Given the description of an element on the screen output the (x, y) to click on. 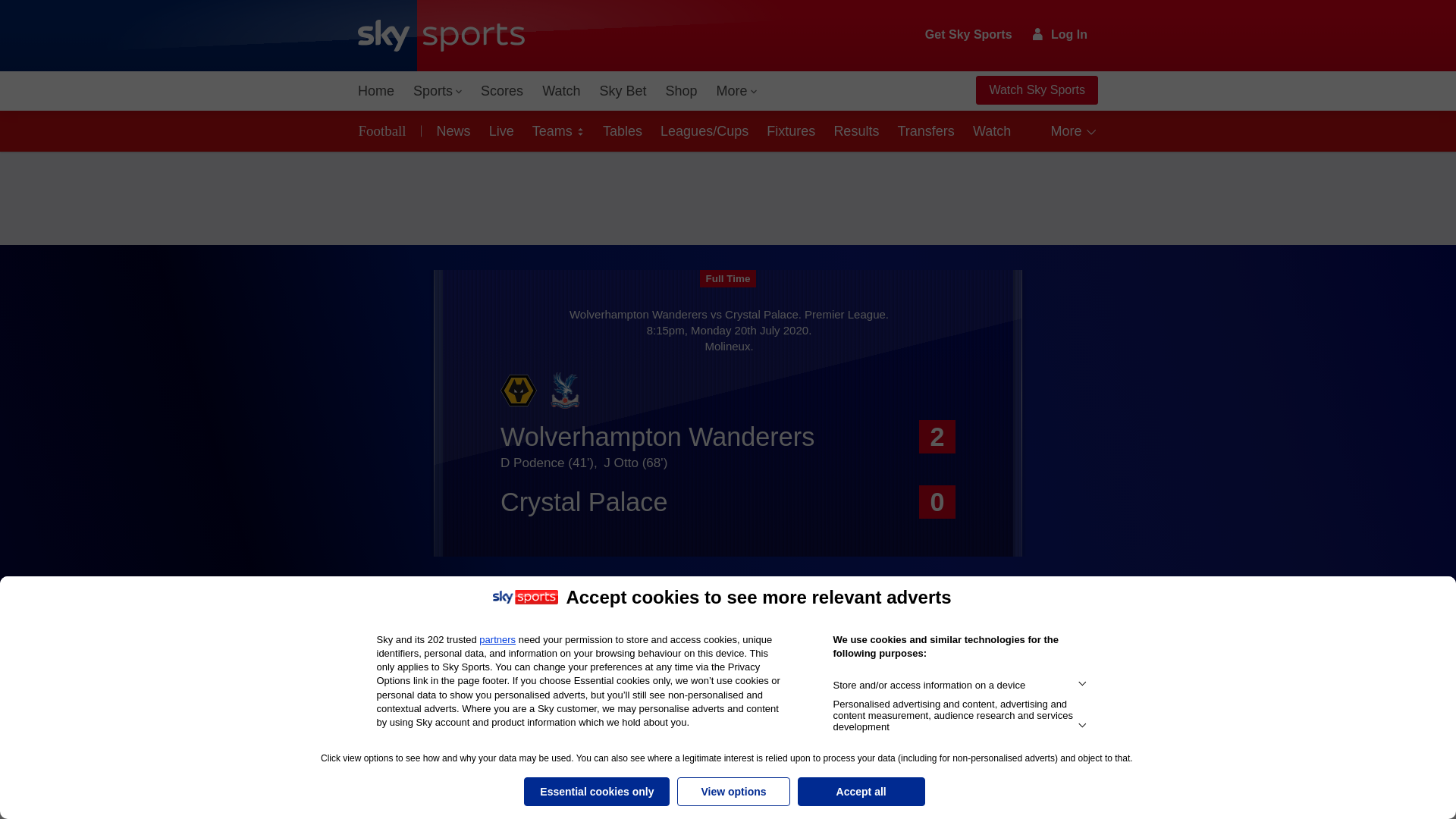
Get Sky Sports (968, 34)
More (736, 91)
Watch Sky Sports (1036, 90)
Shop (681, 91)
Scores (502, 91)
Home (375, 91)
Sky Bet (622, 91)
Football (385, 130)
Watch (561, 91)
News (451, 130)
